Given the description of an element on the screen output the (x, y) to click on. 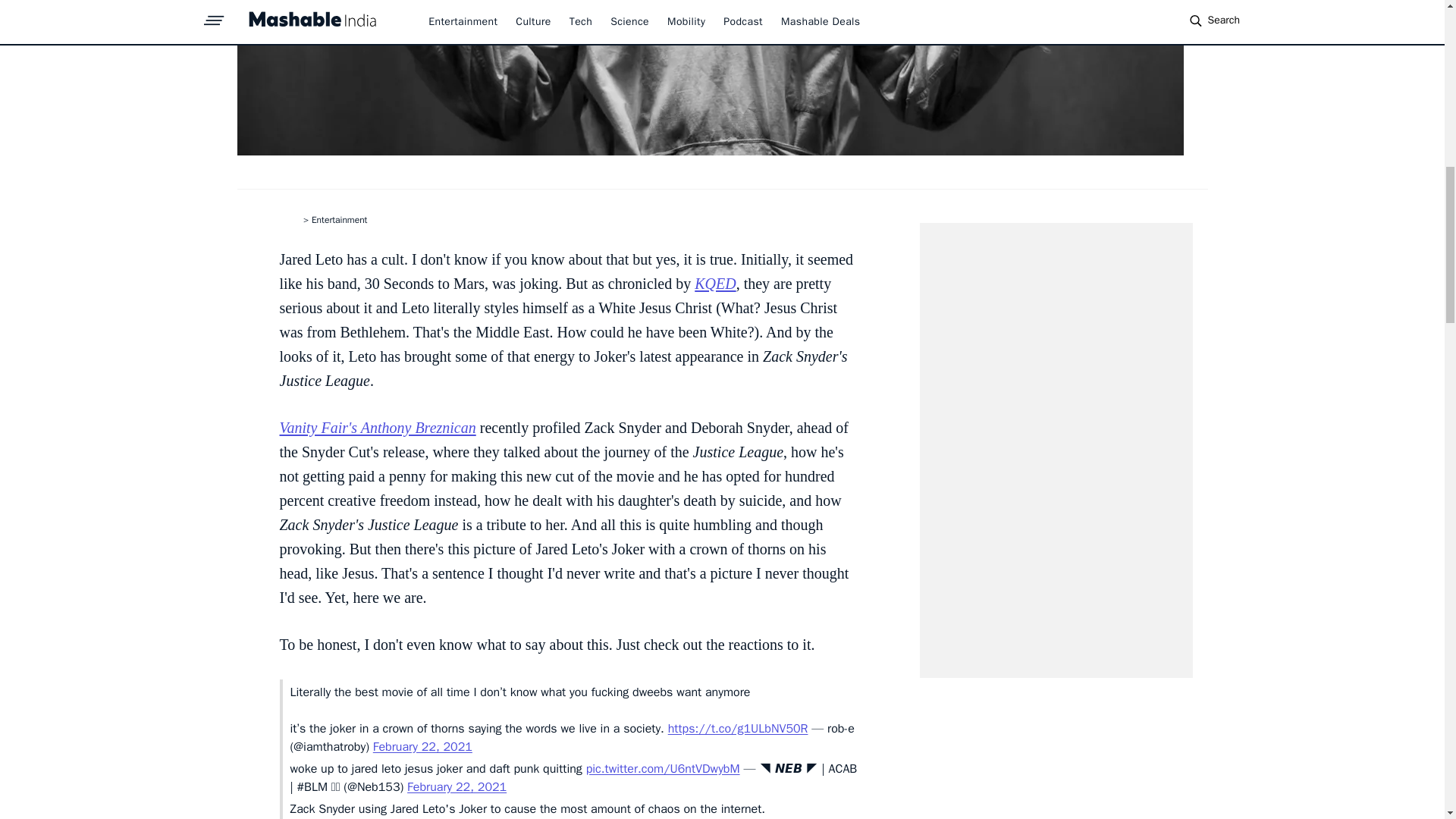
February 22, 2021 (456, 786)
Vanity Fair's Anthony Breznican (377, 427)
KQED (714, 283)
February 22, 2021 (421, 746)
